Given the description of an element on the screen output the (x, y) to click on. 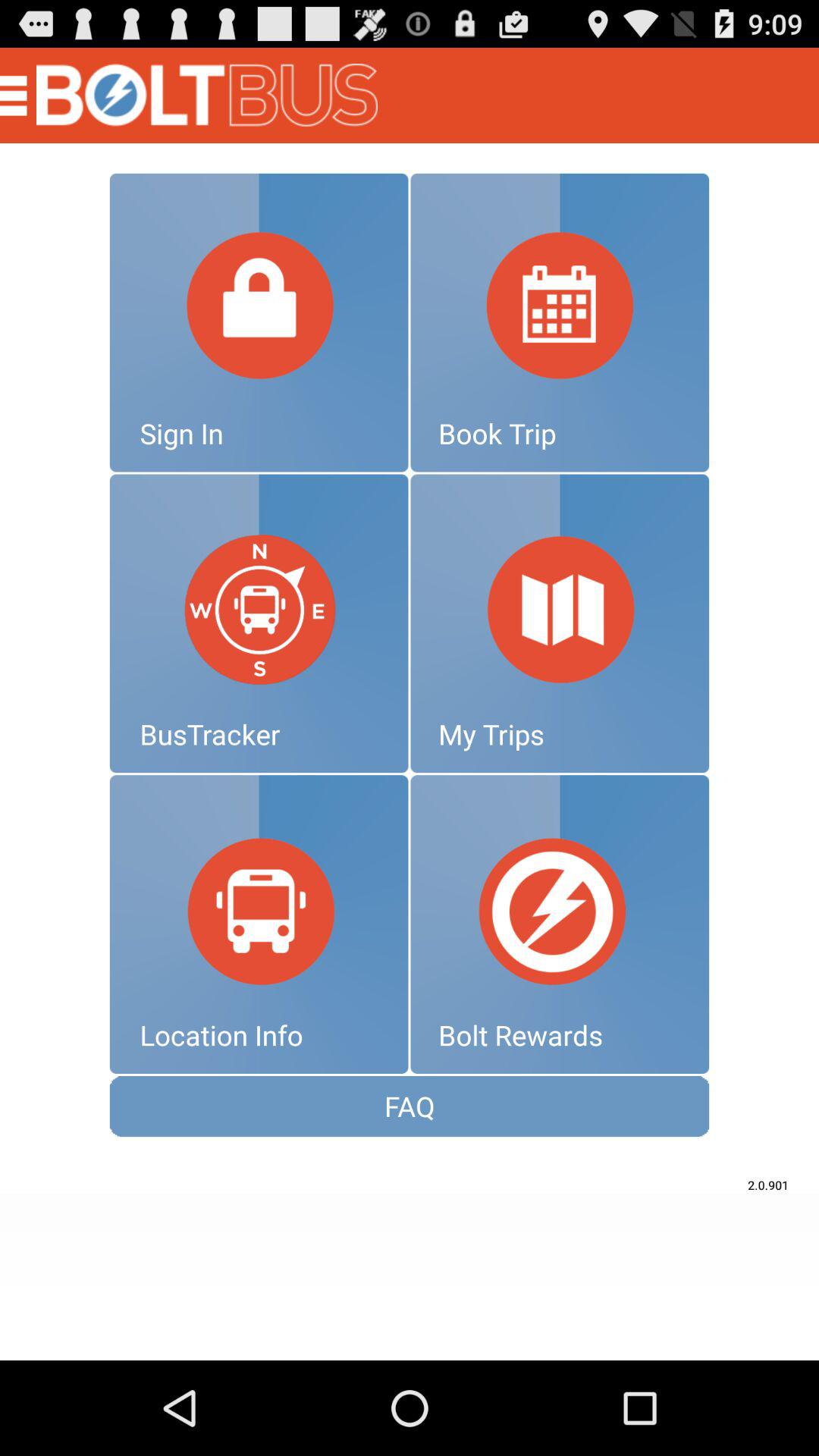
sign in (258, 322)
